Given the description of an element on the screen output the (x, y) to click on. 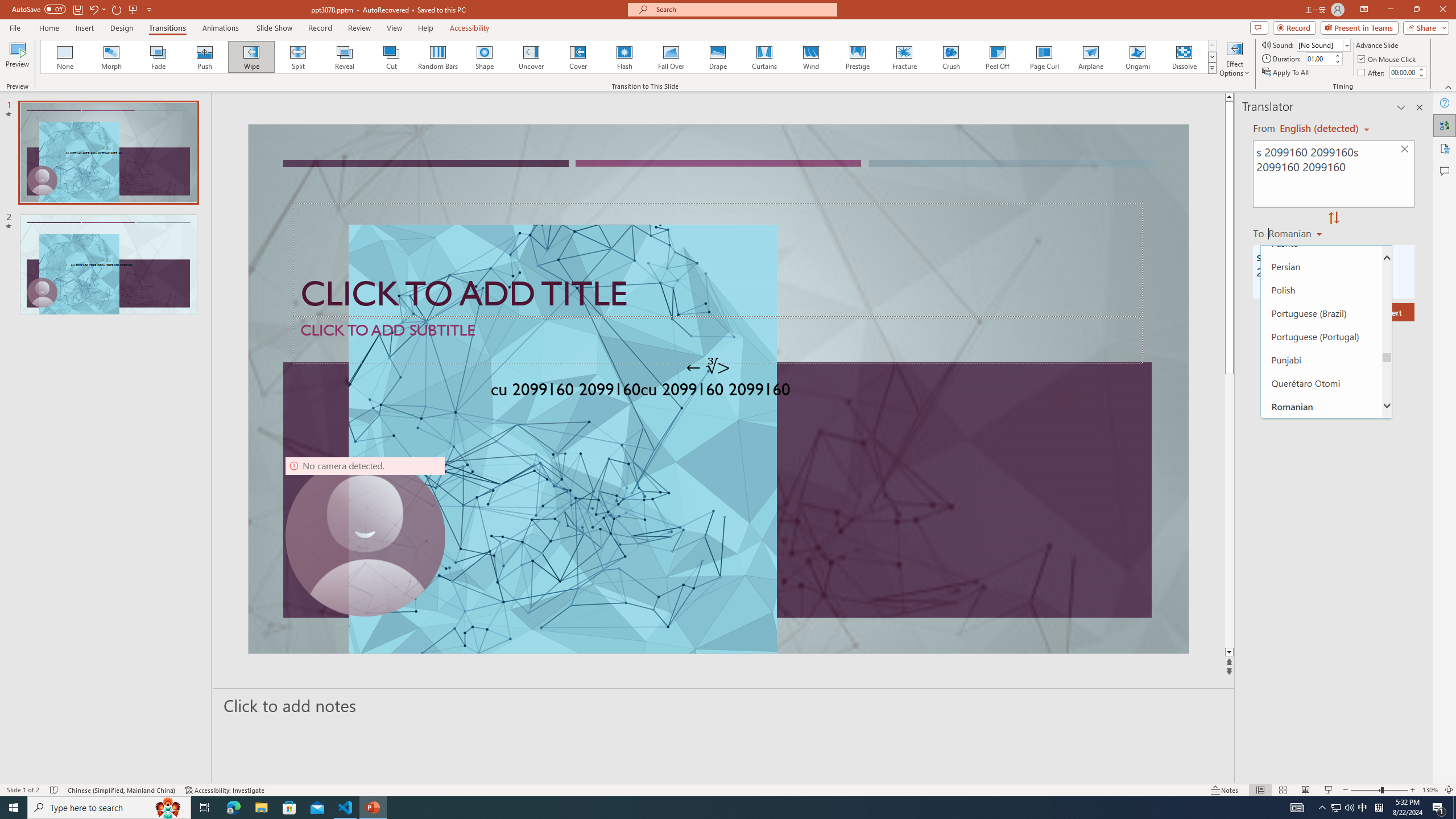
Portuguese (Portugal) (1320, 336)
None (65, 56)
Serbian (Latin) (1320, 522)
Page Curl (1043, 56)
Odia (1320, 219)
